Given the description of an element on the screen output the (x, y) to click on. 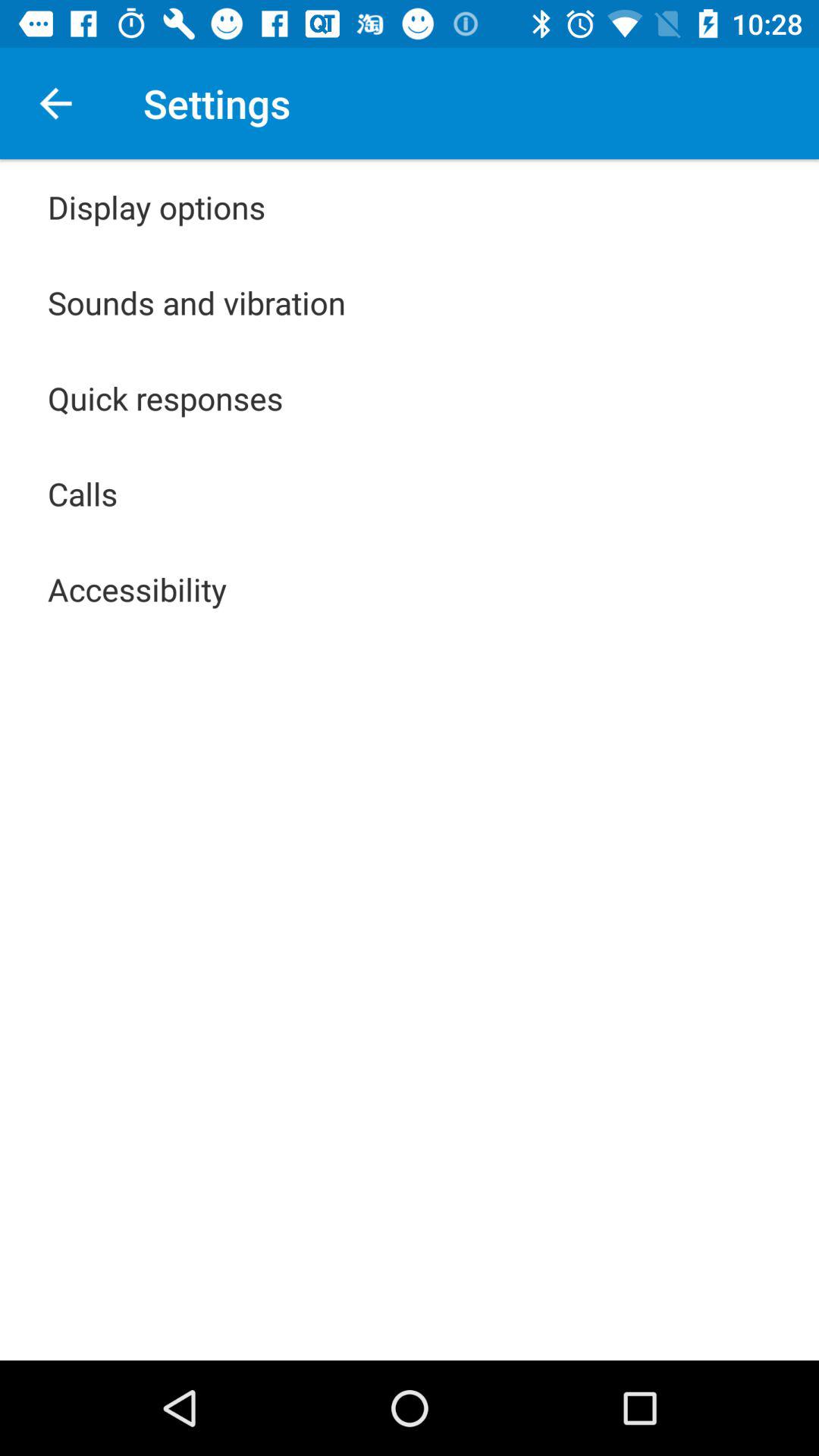
launch item below calls (136, 588)
